Given the description of an element on the screen output the (x, y) to click on. 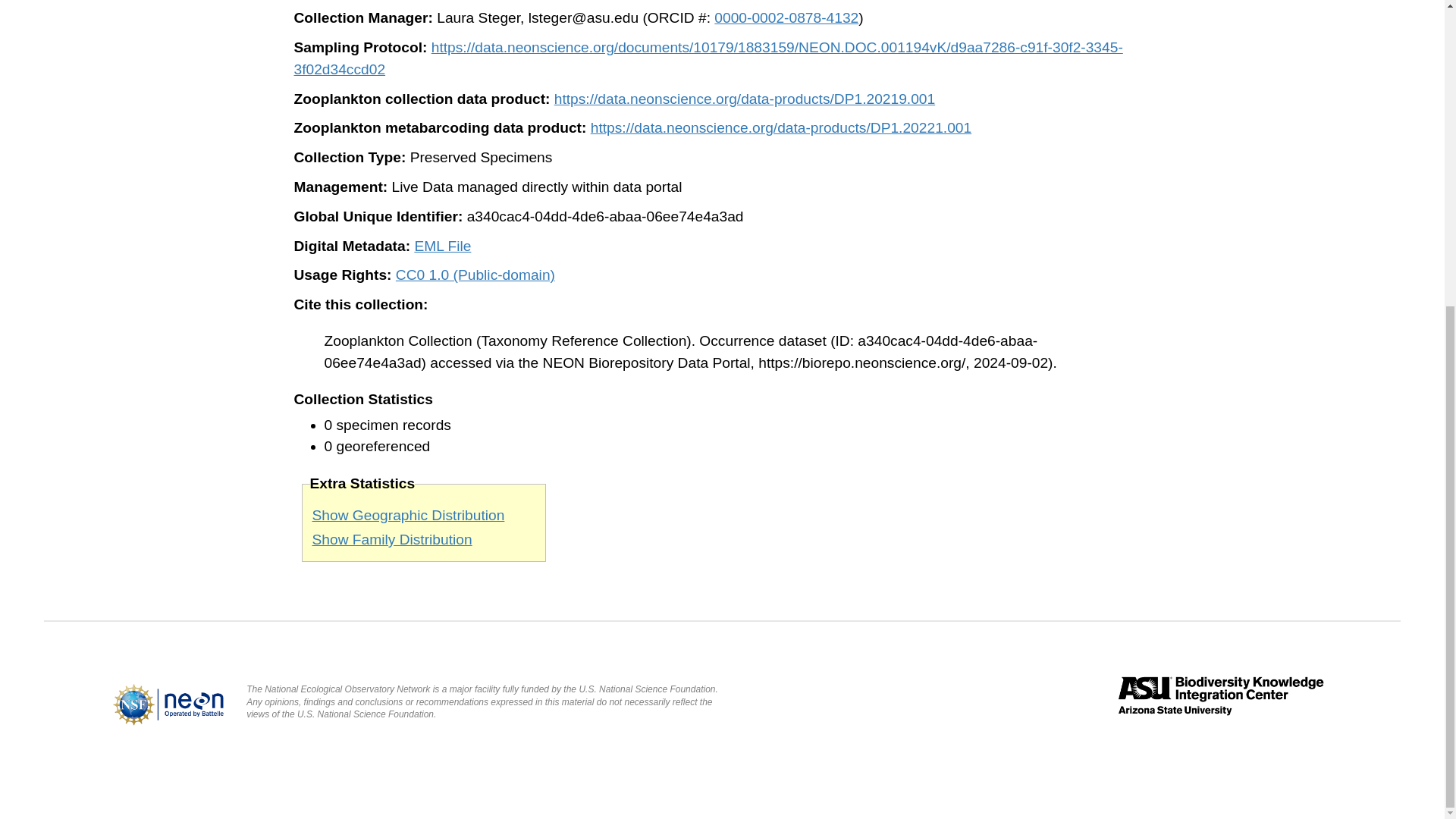
ASU BioKIC Link (1220, 719)
0000-0002-0878-4132 (786, 17)
NSF Link (167, 704)
